Given the description of an element on the screen output the (x, y) to click on. 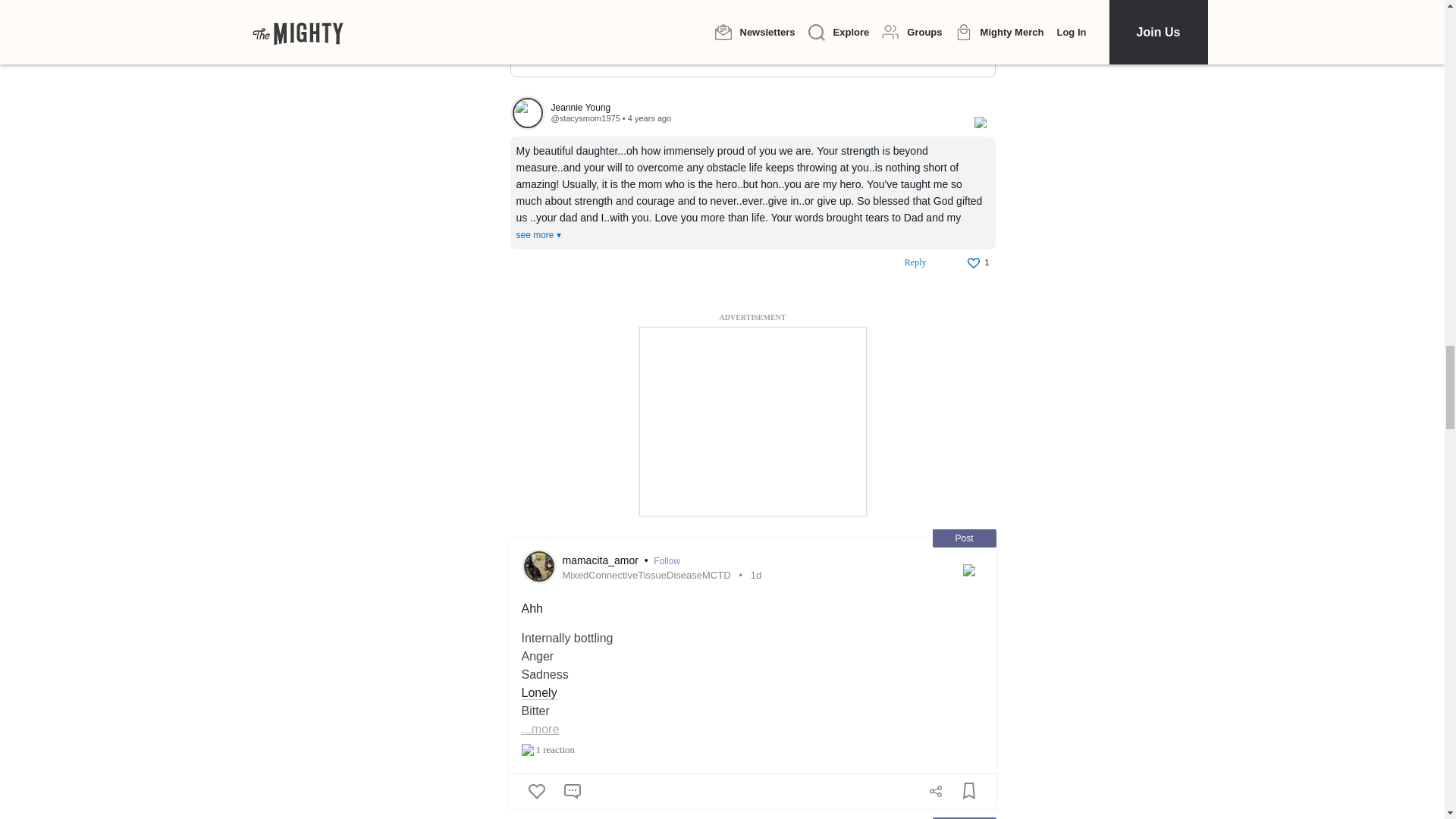
View their profile (754, 108)
Show more of this comment (537, 235)
July 18, 2024 (756, 574)
Lonely (539, 693)
190 (535, 5)
View their profile (526, 112)
View their profile (585, 117)
